Given the description of an element on the screen output the (x, y) to click on. 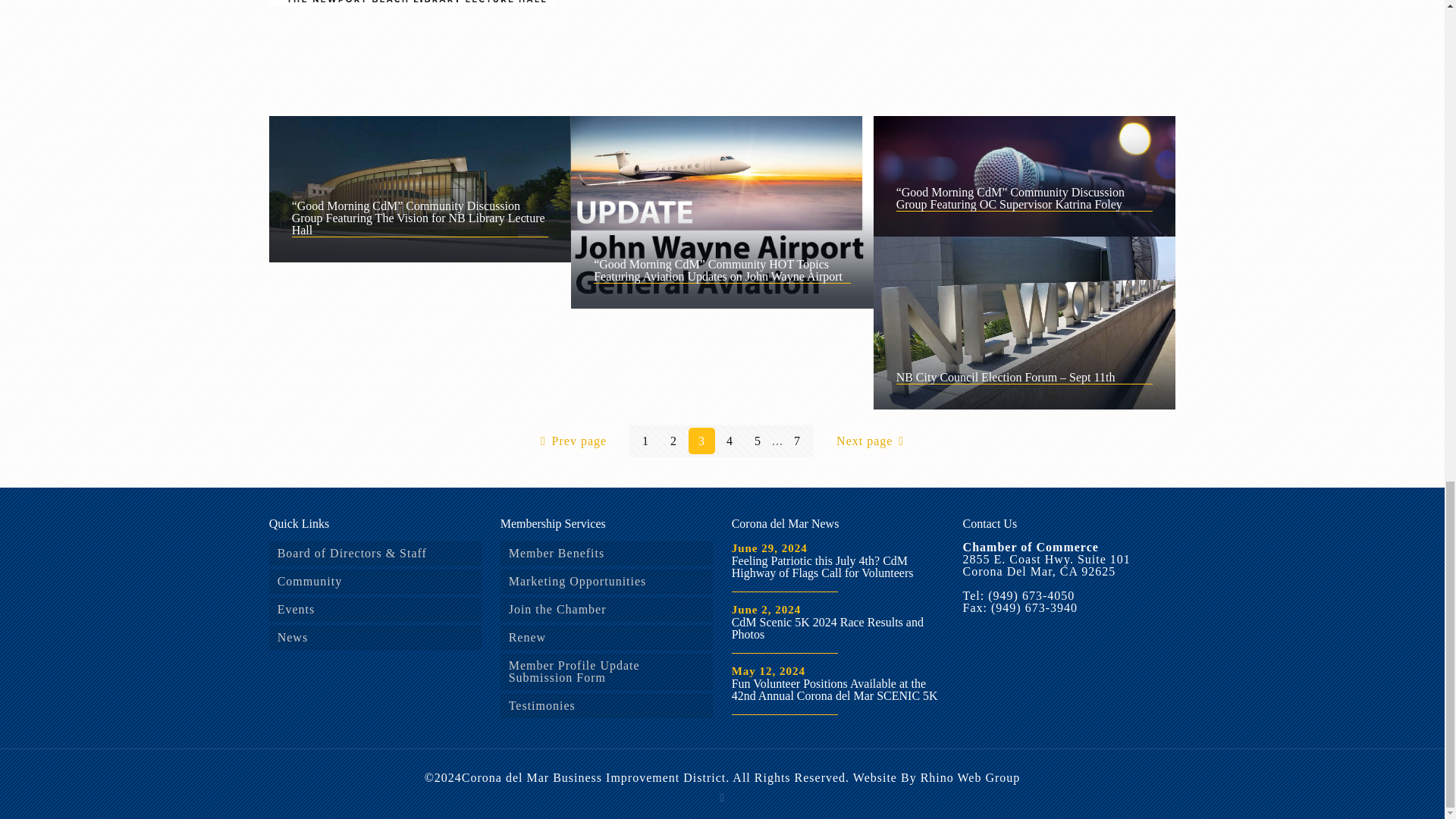
Prev page (570, 441)
2 (674, 440)
Facebook (722, 797)
1 (645, 440)
3 (701, 440)
